Given the description of an element on the screen output the (x, y) to click on. 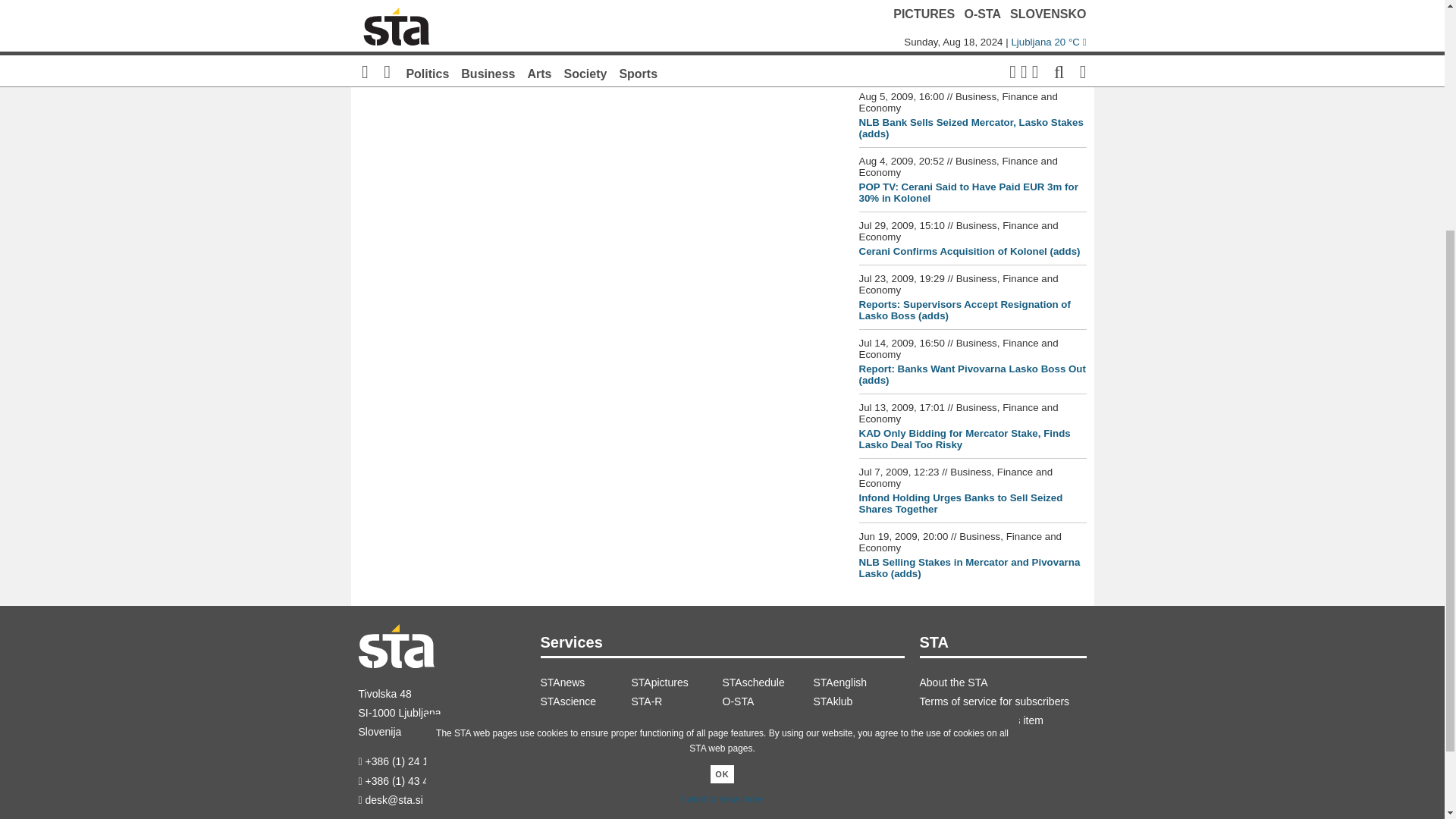
O-STA (767, 701)
STApictures (676, 682)
Infond Holding Urges Banks to Sell Seized Shares Together (960, 503)
STA-AND (585, 720)
STAklub (858, 701)
STAschedule (767, 682)
STAscience (585, 701)
NLB Buys Own Pivovarna Lasko and Mercator Shares (969, 63)
Buy (389, 30)
